Given the description of an element on the screen output the (x, y) to click on. 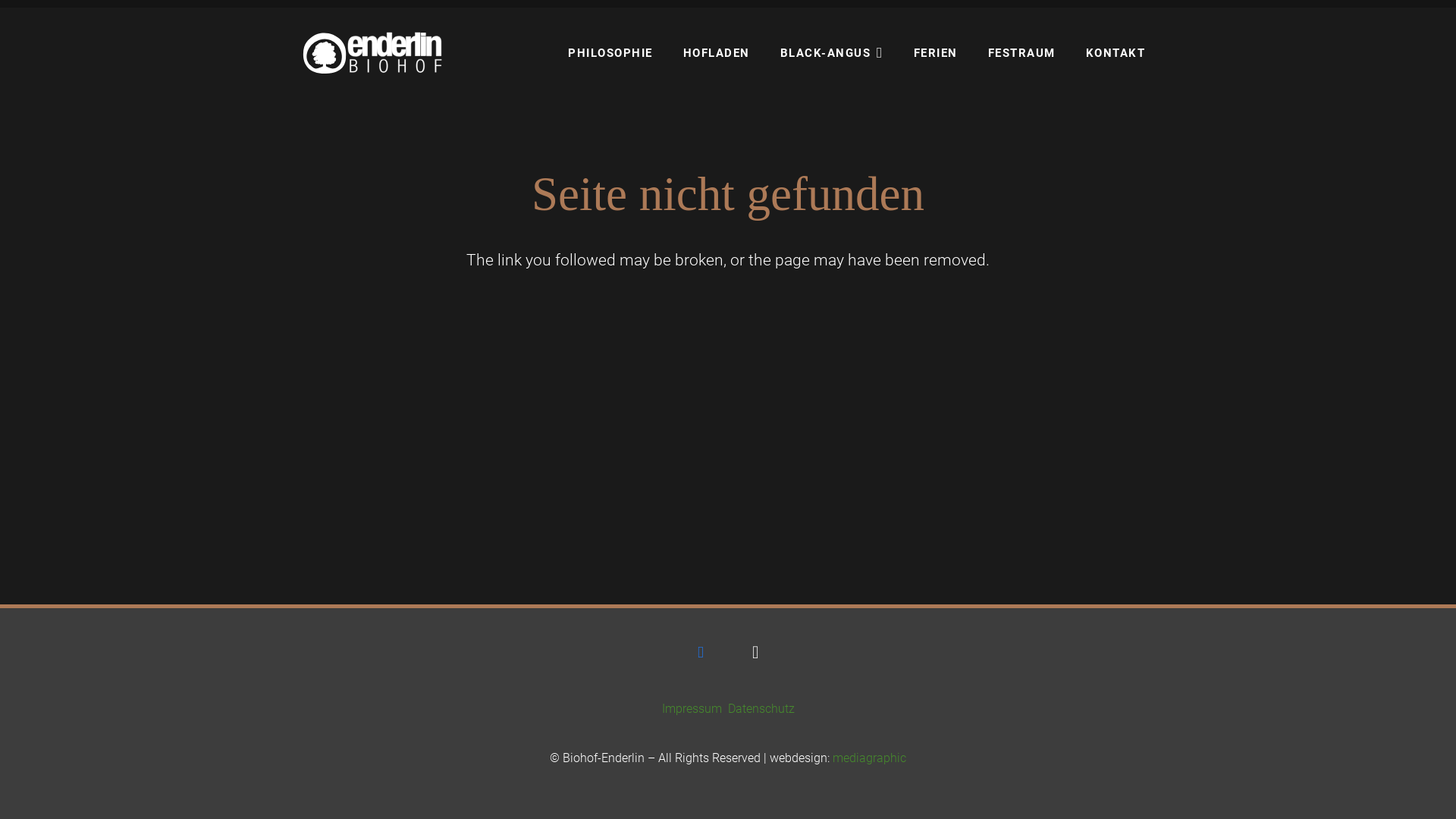
Instagram Element type: hover (755, 652)
FERIEN Element type: text (935, 52)
FESTRAUM Element type: text (1021, 52)
mediagraphic Element type: text (869, 757)
PHILOSOPHIE Element type: text (610, 52)
HOFLADEN Element type: text (716, 52)
Datenschutz Element type: text (761, 707)
Facebook Element type: hover (700, 652)
BLACK-ANGUS Element type: text (831, 52)
Impressum Element type: text (691, 707)
KONTAKT Element type: text (1115, 52)
